Given the description of an element on the screen output the (x, y) to click on. 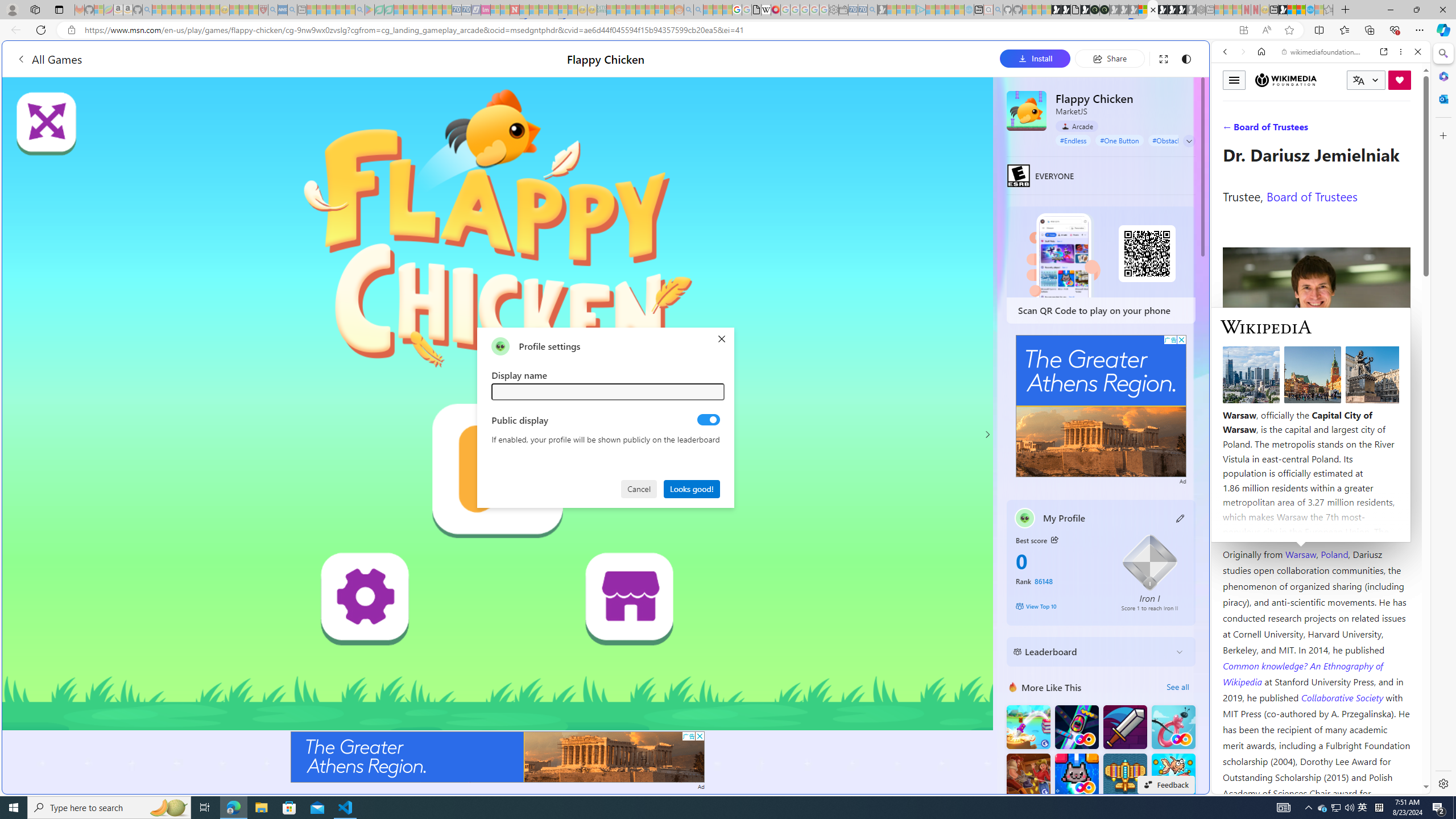
Forward (1242, 51)
DITOGAMES AG Imprint - Sleeping (601, 9)
Ad (1182, 480)
Search Filter, VIDEOS (1300, 129)
Local - MSN - Sleeping (253, 9)
Microsoft account | Privacy - Sleeping (910, 9)
App available. Install Flappy Chicken (1243, 29)
